Given the description of an element on the screen output the (x, y) to click on. 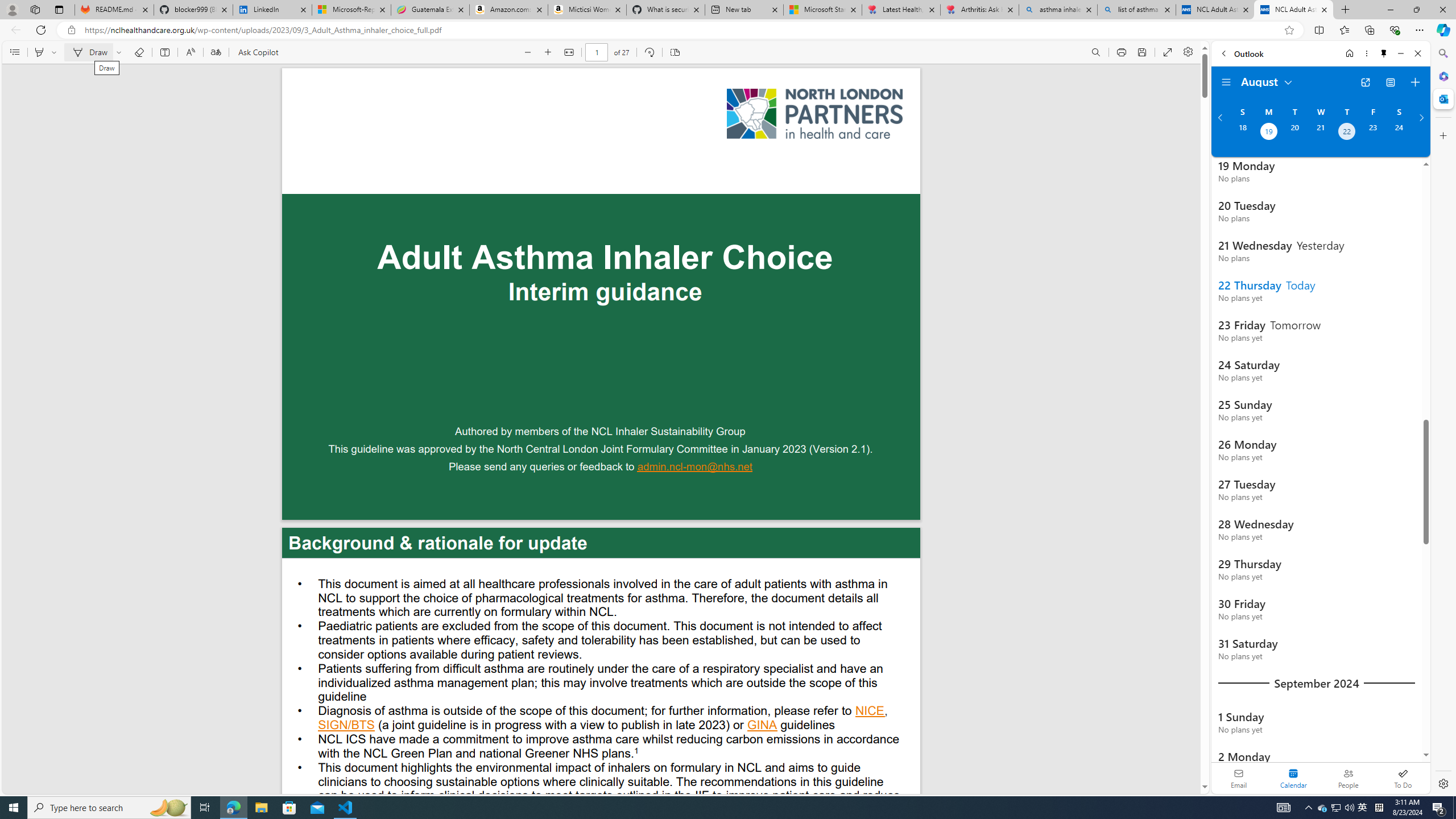
Wednesday, August 21, 2024.  (1320, 132)
Saturday, August 24, 2024.  (1399, 132)
Settings and more (1187, 52)
NICE (870, 711)
Translate (215, 52)
Rotate (Ctrl+]) (649, 52)
